Given the description of an element on the screen output the (x, y) to click on. 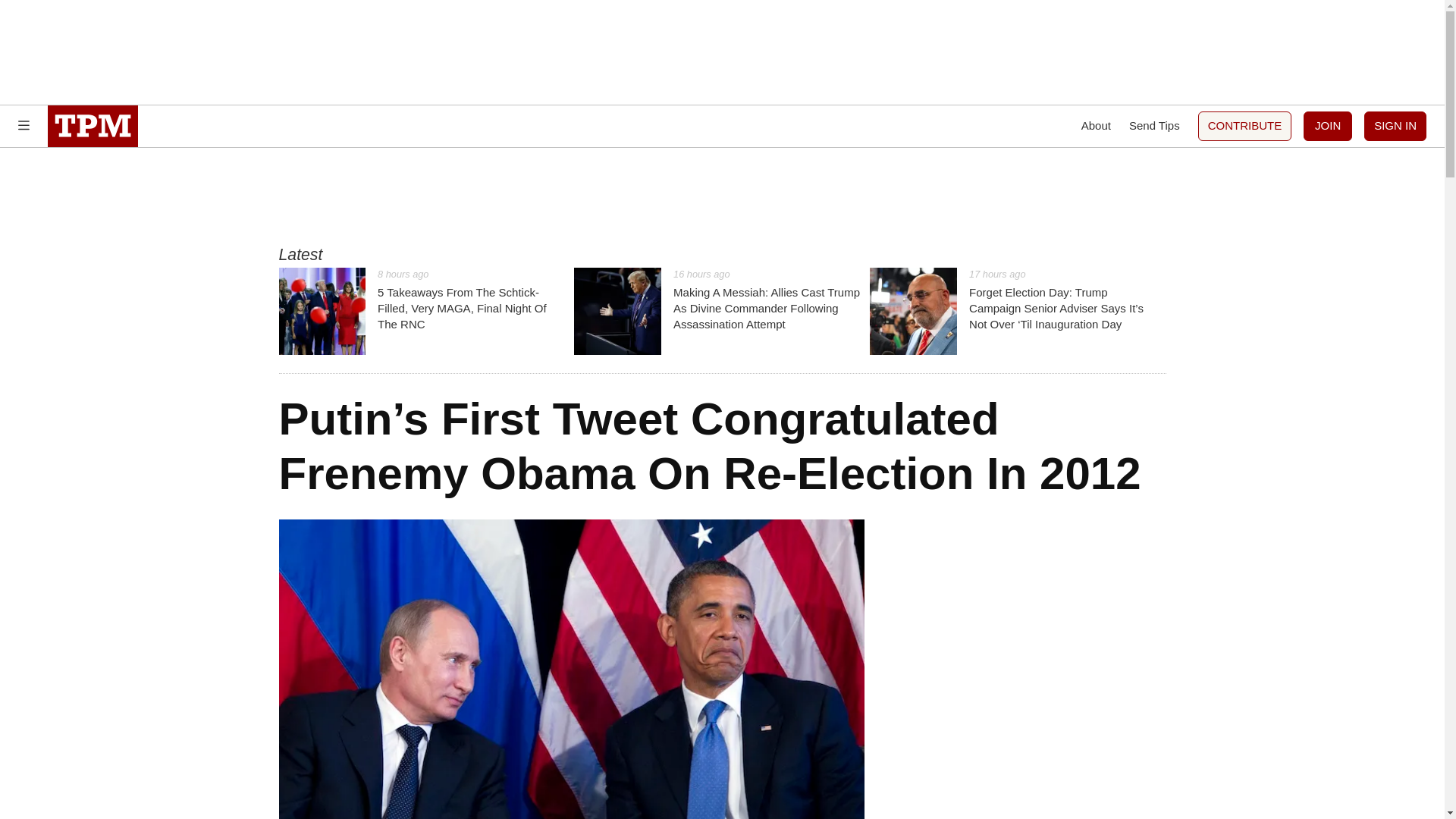
About (1095, 125)
CONTRIBUTE (1245, 125)
SIGN IN (1395, 125)
Send Tips (1154, 125)
JOIN (1327, 125)
3rd party ad content (721, 196)
3rd party ad content (721, 52)
